Given the description of an element on the screen output the (x, y) to click on. 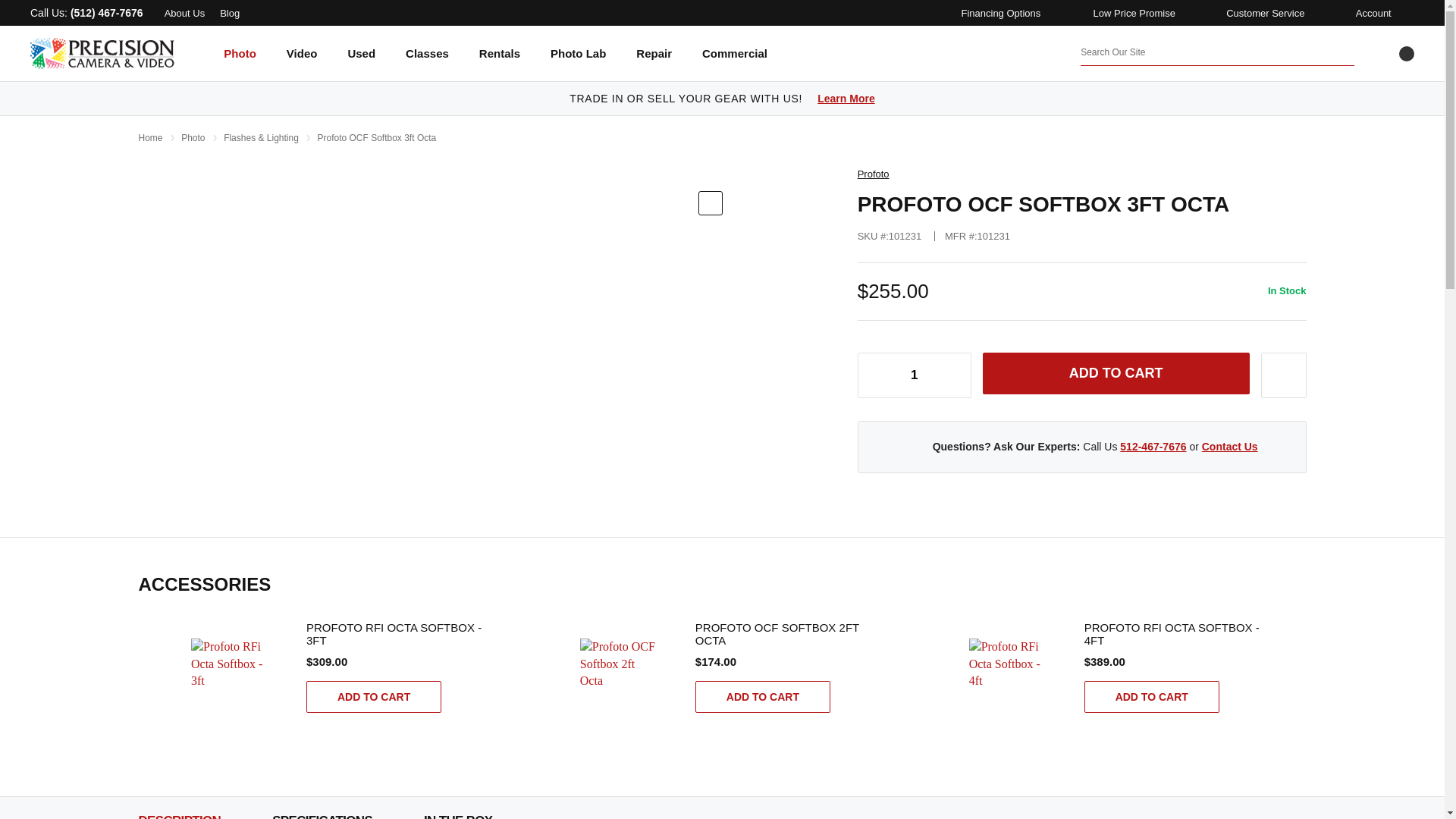
Blog (229, 12)
Low Price Promise (1130, 12)
Profoto OCF Softbox 2ft Octa (619, 671)
Customer Service (1262, 12)
Add to Cart (1115, 372)
Profoto RFi Octa Softbox - 4ft (1008, 671)
Profoto RFi Octa Softbox - 3ft (229, 671)
Financing Options (997, 12)
Photo (240, 63)
Video (301, 63)
Account (1370, 12)
About Us (184, 12)
Precision Camera and Video (102, 53)
